Given the description of an element on the screen output the (x, y) to click on. 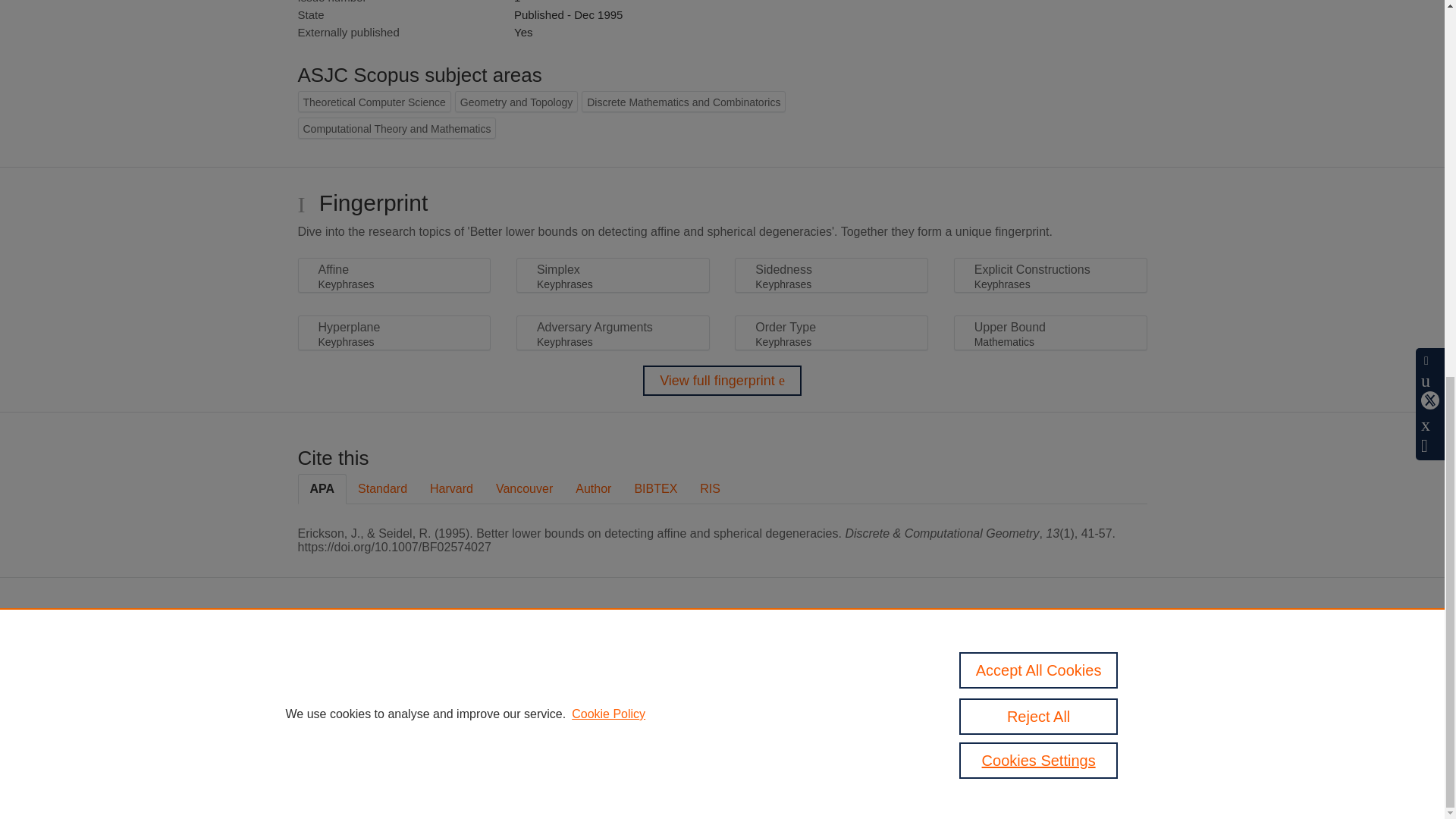
Scopus (652, 653)
Pure (620, 653)
Elsevier B.V. (764, 673)
View full fingerprint (722, 380)
